Given the description of an element on the screen output the (x, y) to click on. 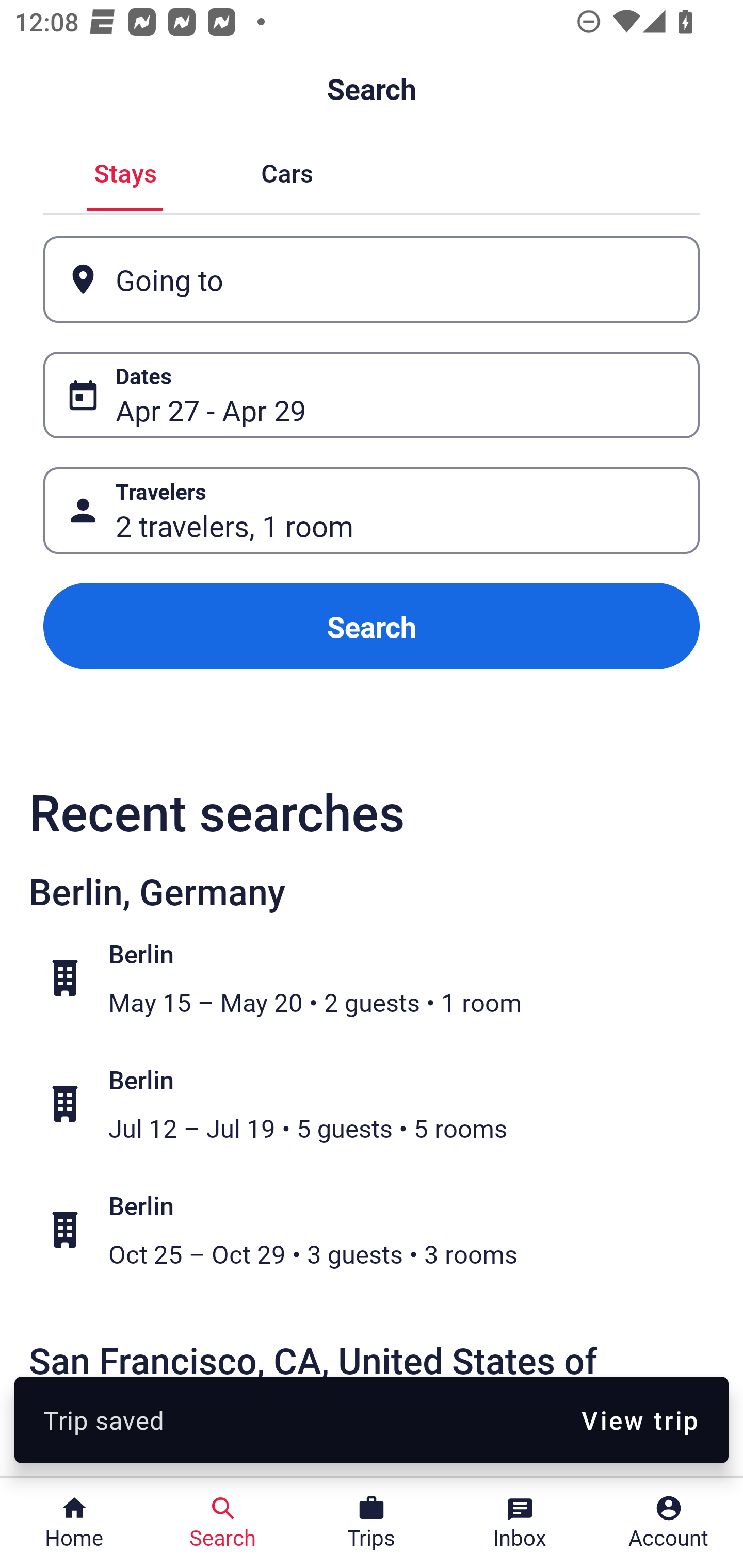
Cars (286, 171)
Going to Button (371, 279)
Dates Button Apr 27 - Apr 29 (371, 395)
Travelers Button 2 travelers, 1 room (371, 510)
Search (371, 626)
Berlin May 15 – May 20 • 2 guests • 1 room (382, 978)
Berlin Jul 12 – Jul 19 • 5 guests • 5 rooms (382, 1103)
Berlin Oct 25 – Oct 29 • 3 guests • 3 rooms (382, 1229)
View trip (640, 1419)
Home Home Button (74, 1522)
Trips Trips Button (371, 1522)
Inbox Inbox Button (519, 1522)
Account Profile. Button (668, 1522)
